Given the description of an element on the screen output the (x, y) to click on. 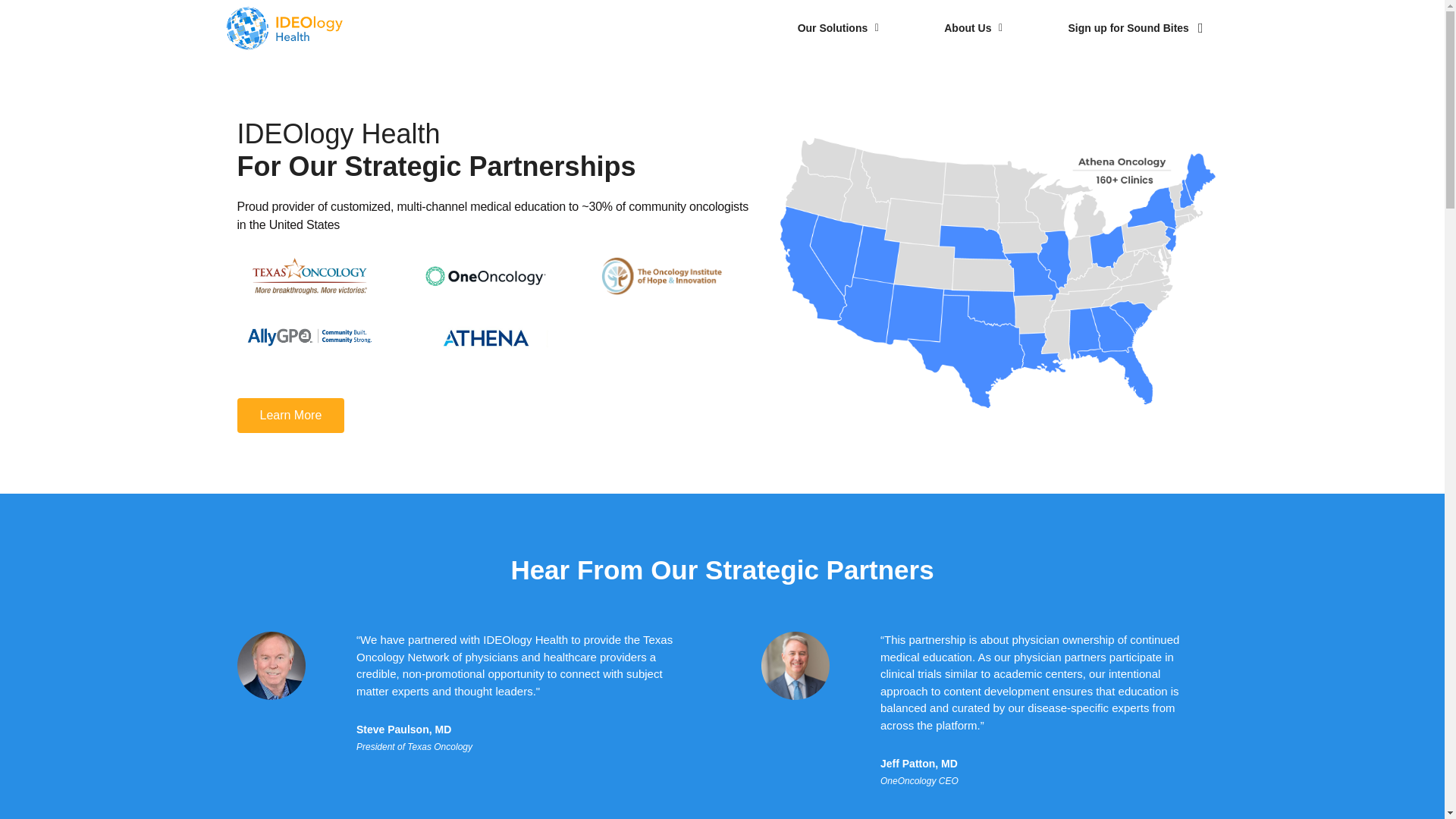
Sign up for Sound Bites (1134, 28)
Learn More (289, 415)
